Given the description of an element on the screen output the (x, y) to click on. 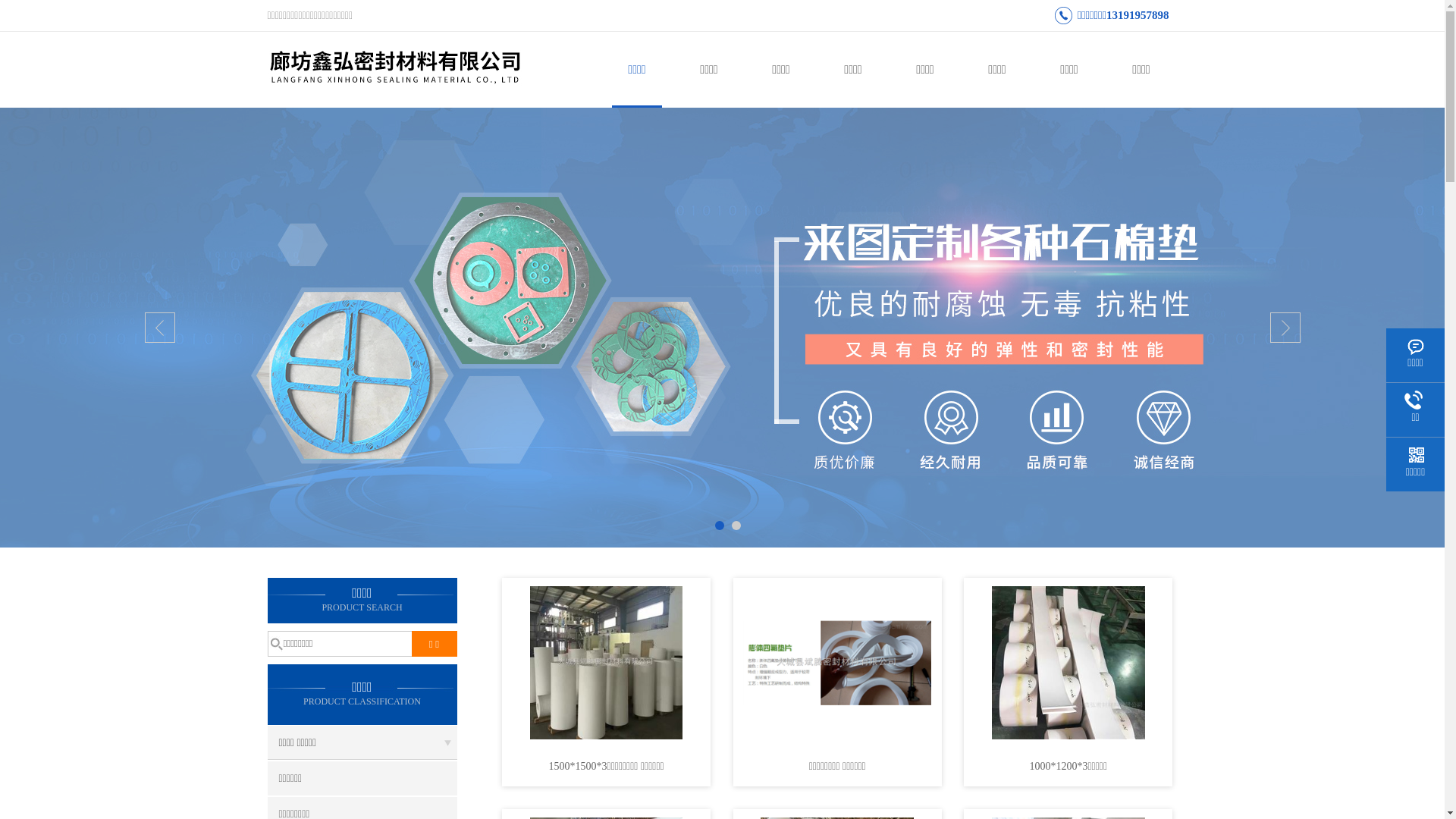
13191957898 Element type: text (1137, 15)
